Given the description of an element on the screen output the (x, y) to click on. 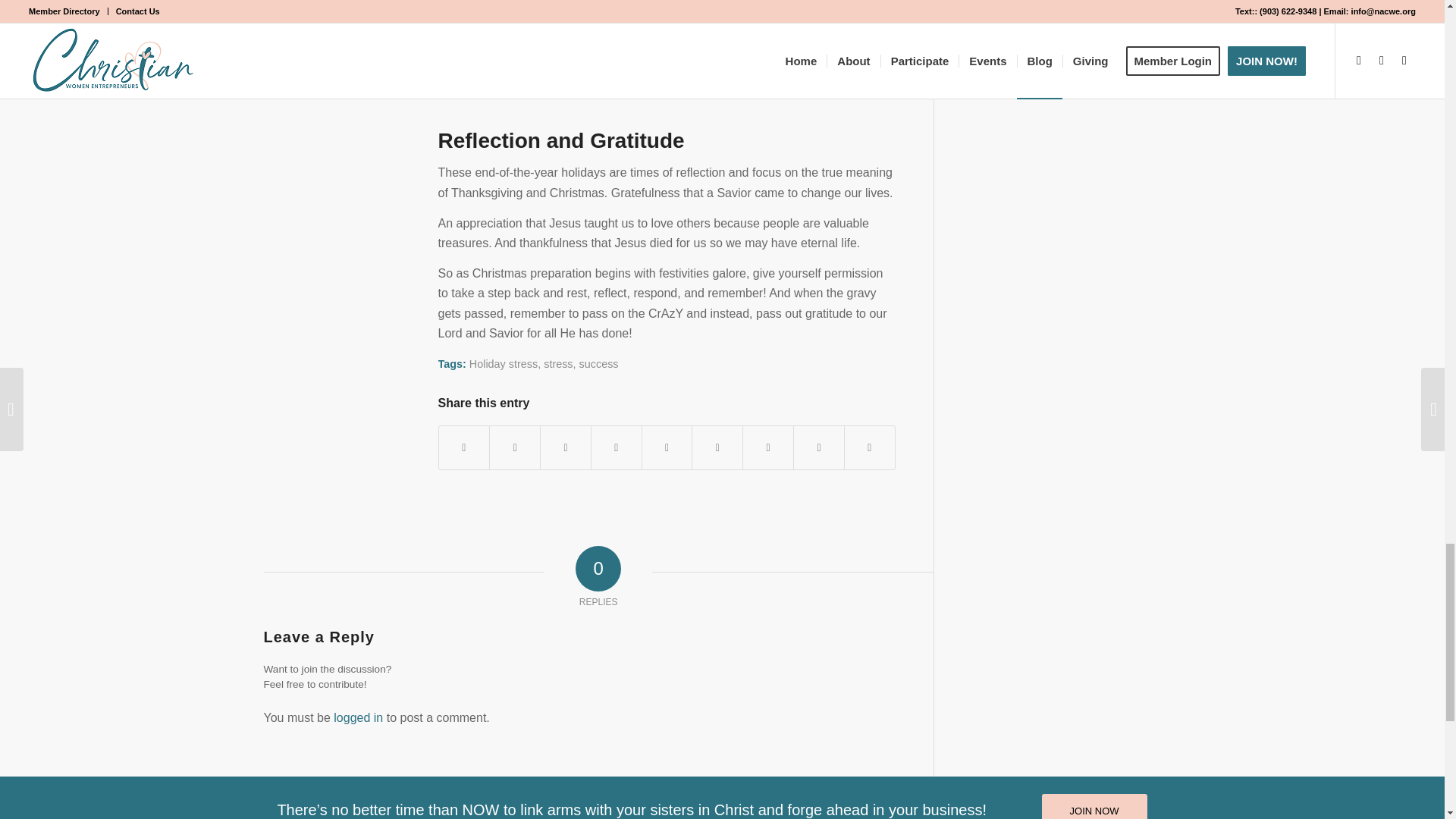
stress (557, 363)
success (598, 363)
Holiday stress (502, 363)
